Given the description of an element on the screen output the (x, y) to click on. 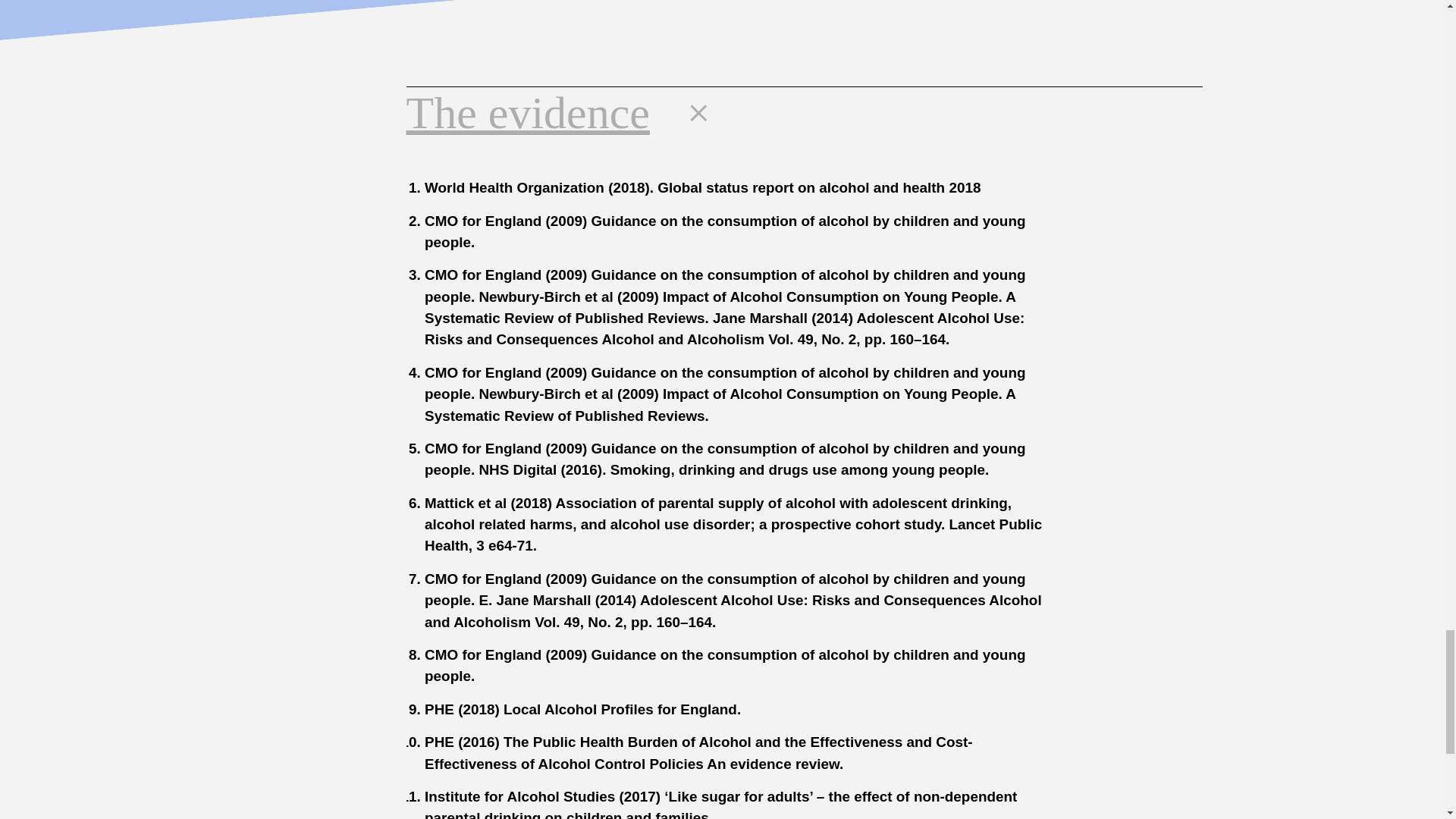
The evidence (569, 116)
